Given the description of an element on the screen output the (x, y) to click on. 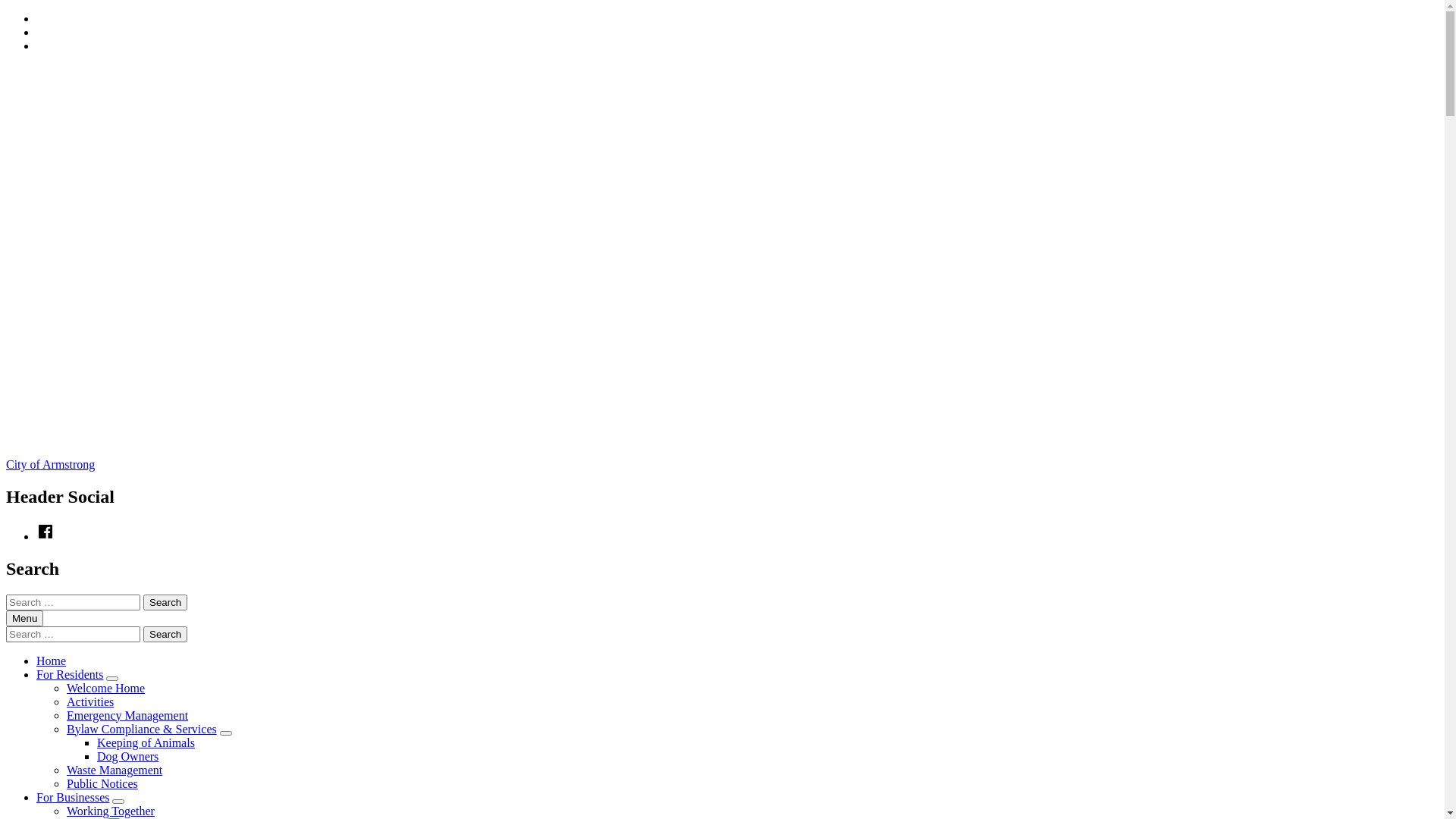
Skip to main content Element type: text (35, 25)
Working Together Element type: text (110, 810)
Emergency Management Element type: text (127, 715)
Dog Owners Element type: text (127, 755)
Welcome Home Element type: text (105, 687)
Waste Management Element type: text (114, 769)
City of Armstrong Element type: text (50, 464)
Facebook Element type: text (45, 536)
Public Notices Element type: text (102, 783)
Skip to main navigation Element type: text (35, 11)
Menu Element type: text (24, 618)
Keeping of Animals Element type: text (145, 742)
Search Element type: text (165, 634)
Home Element type: text (50, 660)
For Businesses Element type: text (72, 796)
Search Element type: text (165, 602)
For Residents Element type: text (69, 674)
Bylaw Compliance & Services Element type: text (141, 728)
Activities Element type: text (89, 701)
Skip to footer Element type: text (35, 38)
